Given the description of an element on the screen output the (x, y) to click on. 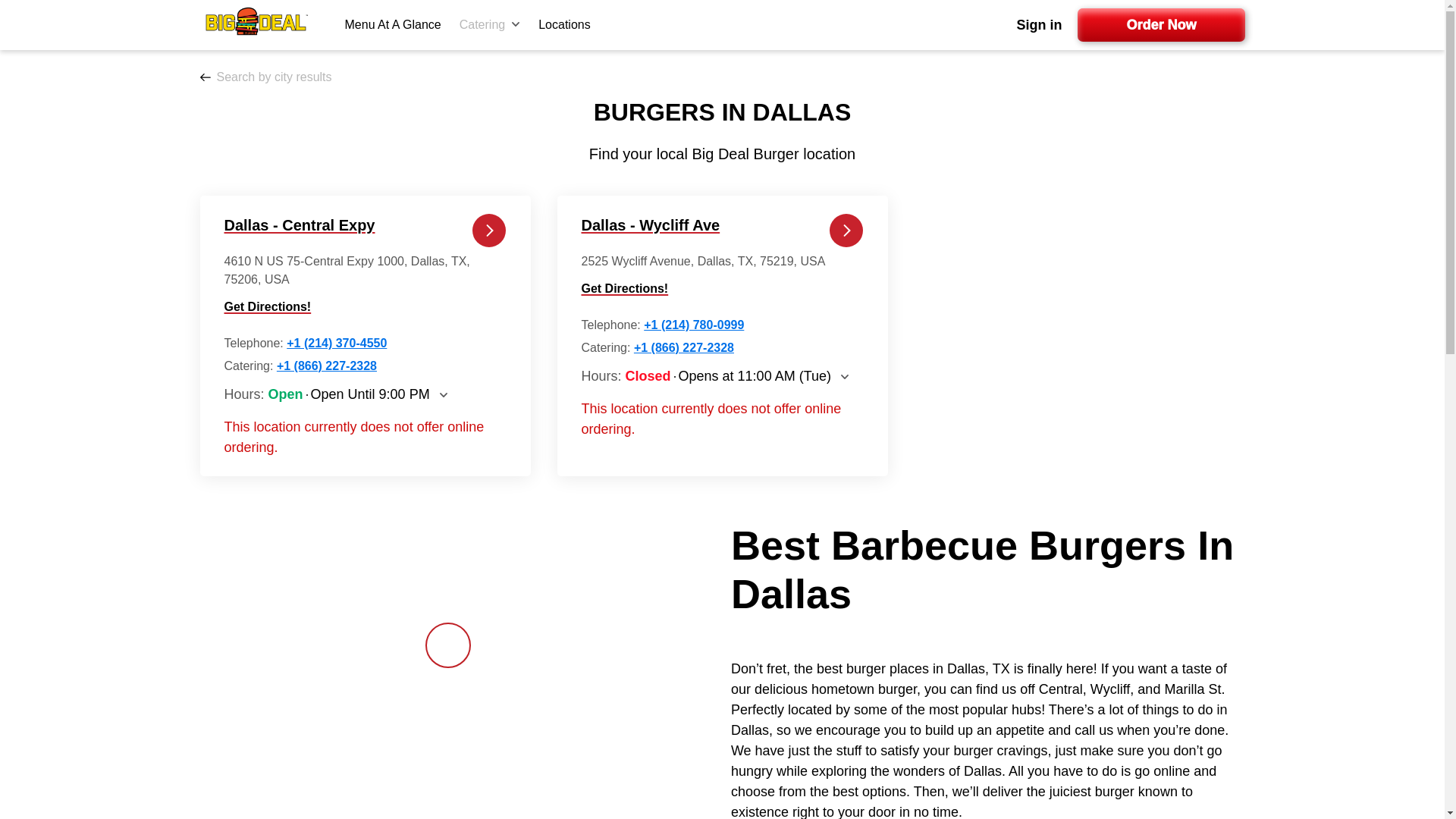
Search by city results (265, 76)
Order Now (1160, 23)
Cateringarrow-icon (489, 24)
Dallas - Wycliff Ave (649, 224)
arrow-icon (515, 23)
Locations (564, 24)
Get Directions! (365, 307)
Dallas - Central Expy (299, 224)
Menu At A Glance (392, 24)
Get Directions! (721, 289)
